Given the description of an element on the screen output the (x, y) to click on. 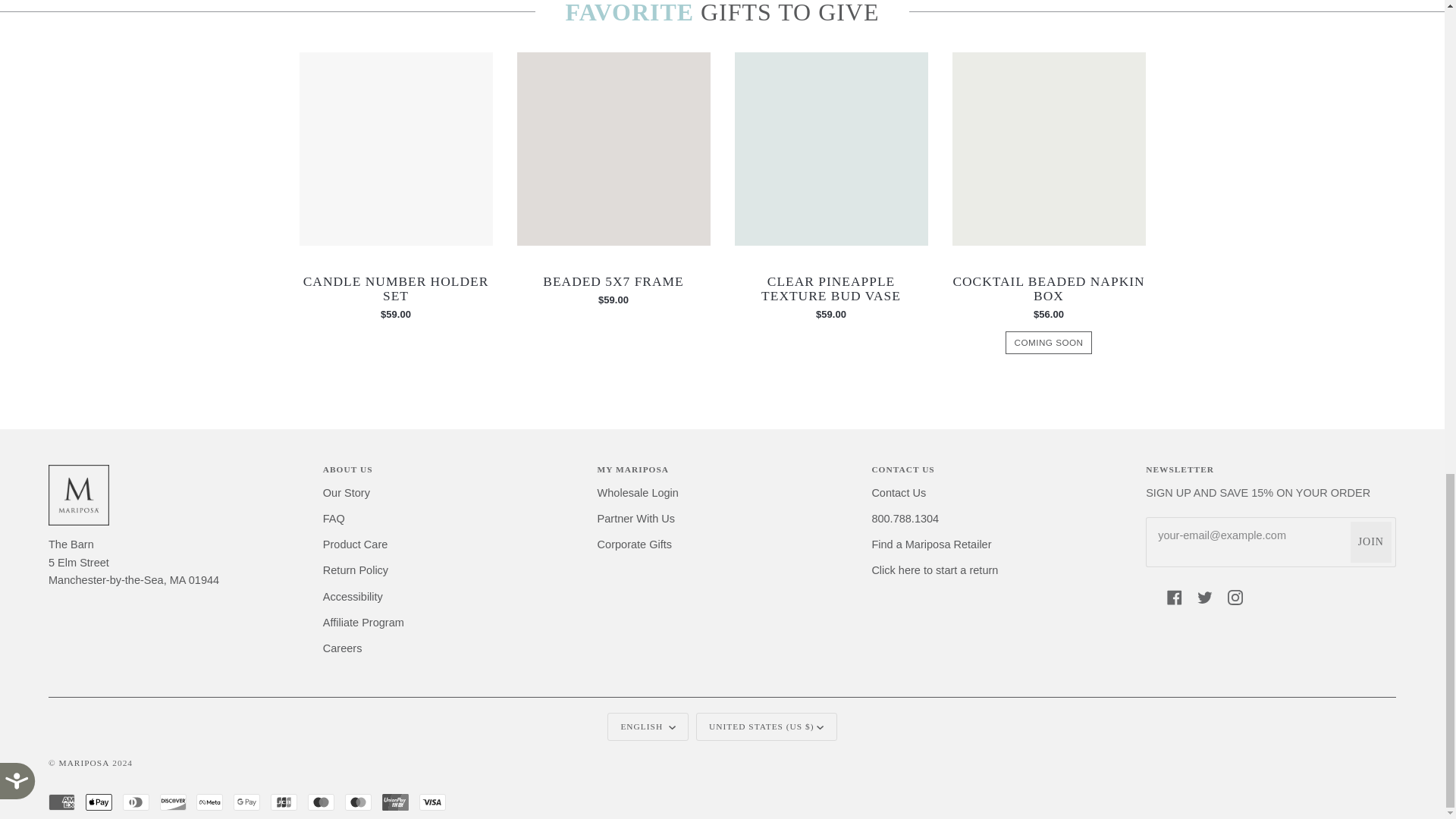
Map (133, 562)
Contact Us (898, 493)
Instagram (1235, 597)
Retailer Dashboard (930, 544)
Facebook (1174, 597)
tel:18007881304 (904, 518)
Twitter (1204, 597)
